Given the description of an element on the screen output the (x, y) to click on. 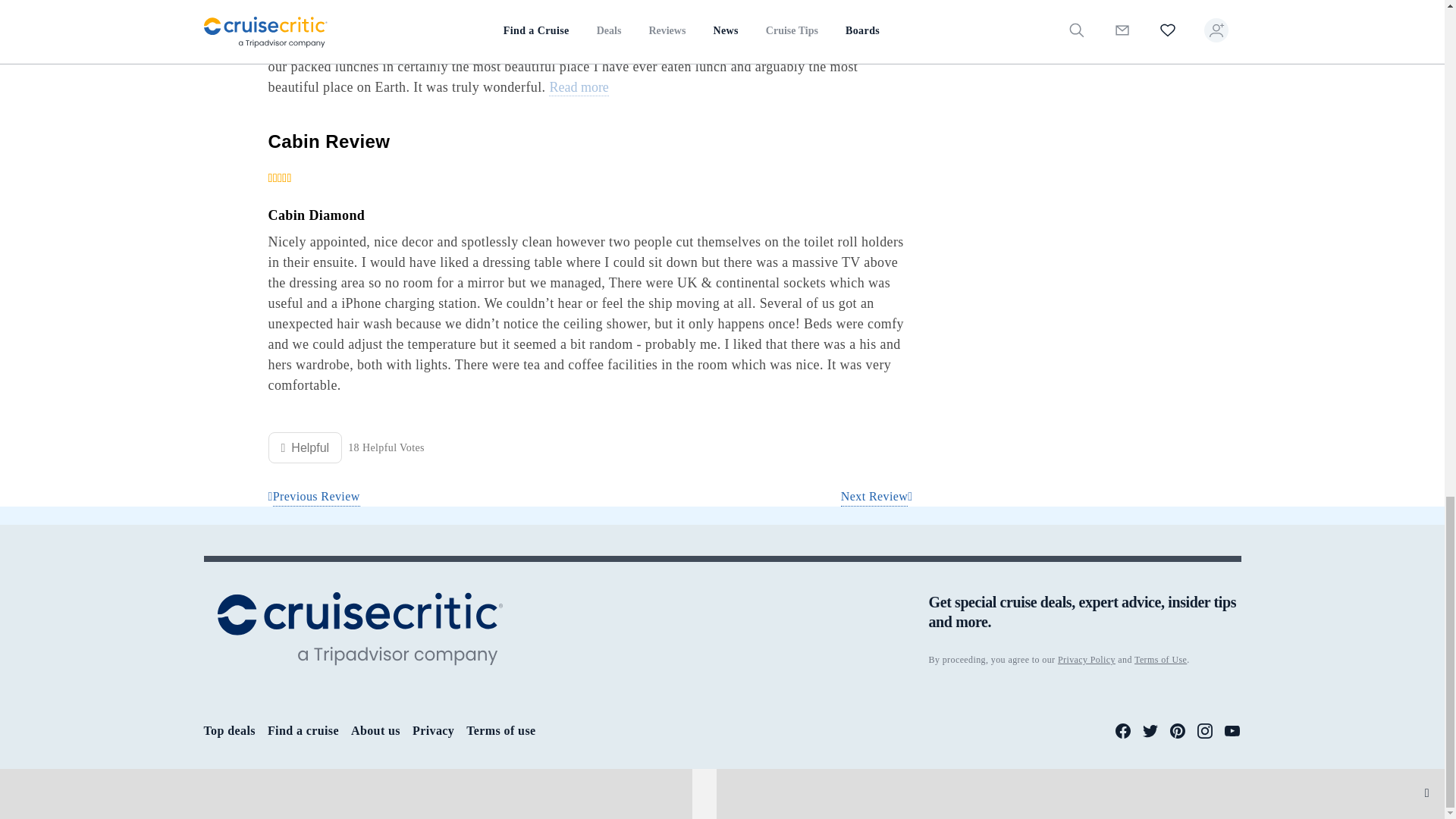
Previous Review (313, 496)
Next Review (876, 496)
Find a cruise (303, 730)
Terms of Use (1160, 659)
Read more (578, 87)
Terms of use (500, 730)
Privacy (433, 730)
Helpful (304, 447)
Top deals (228, 730)
About us (375, 730)
